Given the description of an element on the screen output the (x, y) to click on. 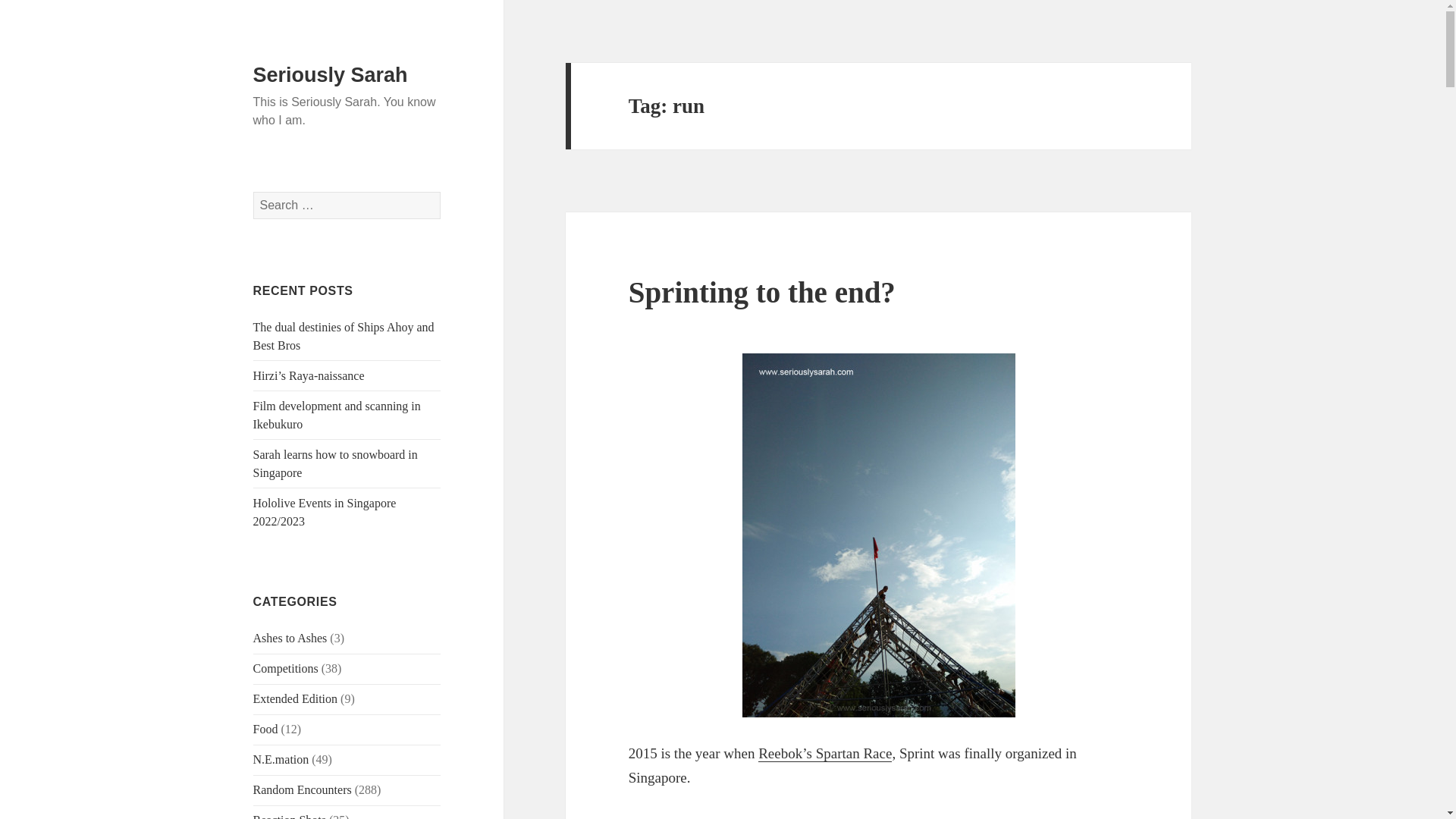
Sarah learns how to snowboard in Singapore (335, 463)
Film development and scanning in Ikebukuro (336, 414)
Sprinting to the end? (761, 292)
Food (265, 728)
Ashes to Ashes (290, 637)
N.E.mation (280, 758)
Reaction Shots (289, 816)
Extended Edition (295, 698)
Competitions (285, 667)
Seriously Sarah (330, 74)
The dual destinies of Ships Ahoy and Best Bros (343, 336)
Random Encounters (302, 789)
